Given the description of an element on the screen output the (x, y) to click on. 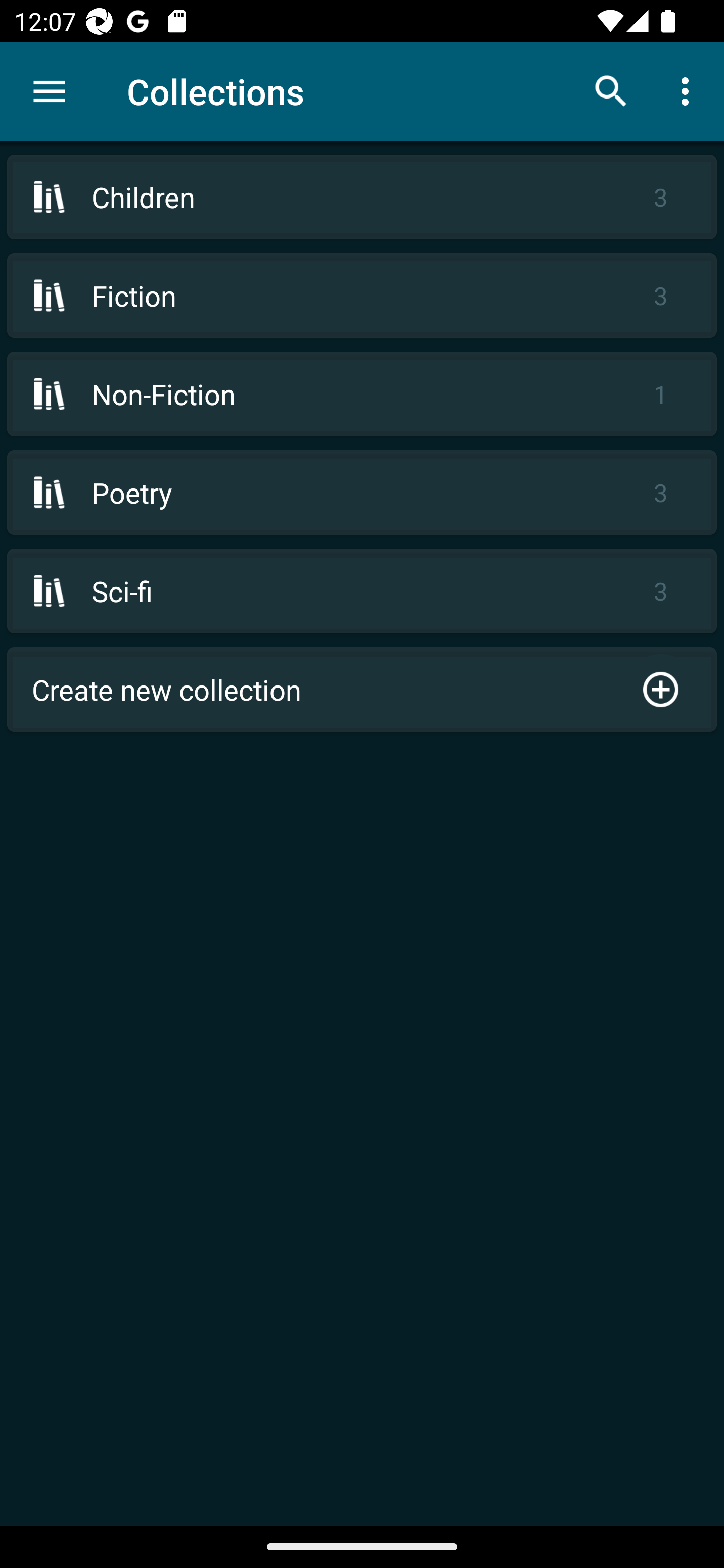
Menu (49, 91)
Search books & documents (611, 90)
More options (688, 90)
Children 3 (361, 197)
Fiction 3 (361, 295)
Non-Fiction 1 (361, 393)
Poetry 3 (361, 492)
Sci-fi 3 (361, 590)
Create new collection (361, 689)
